Given the description of an element on the screen output the (x, y) to click on. 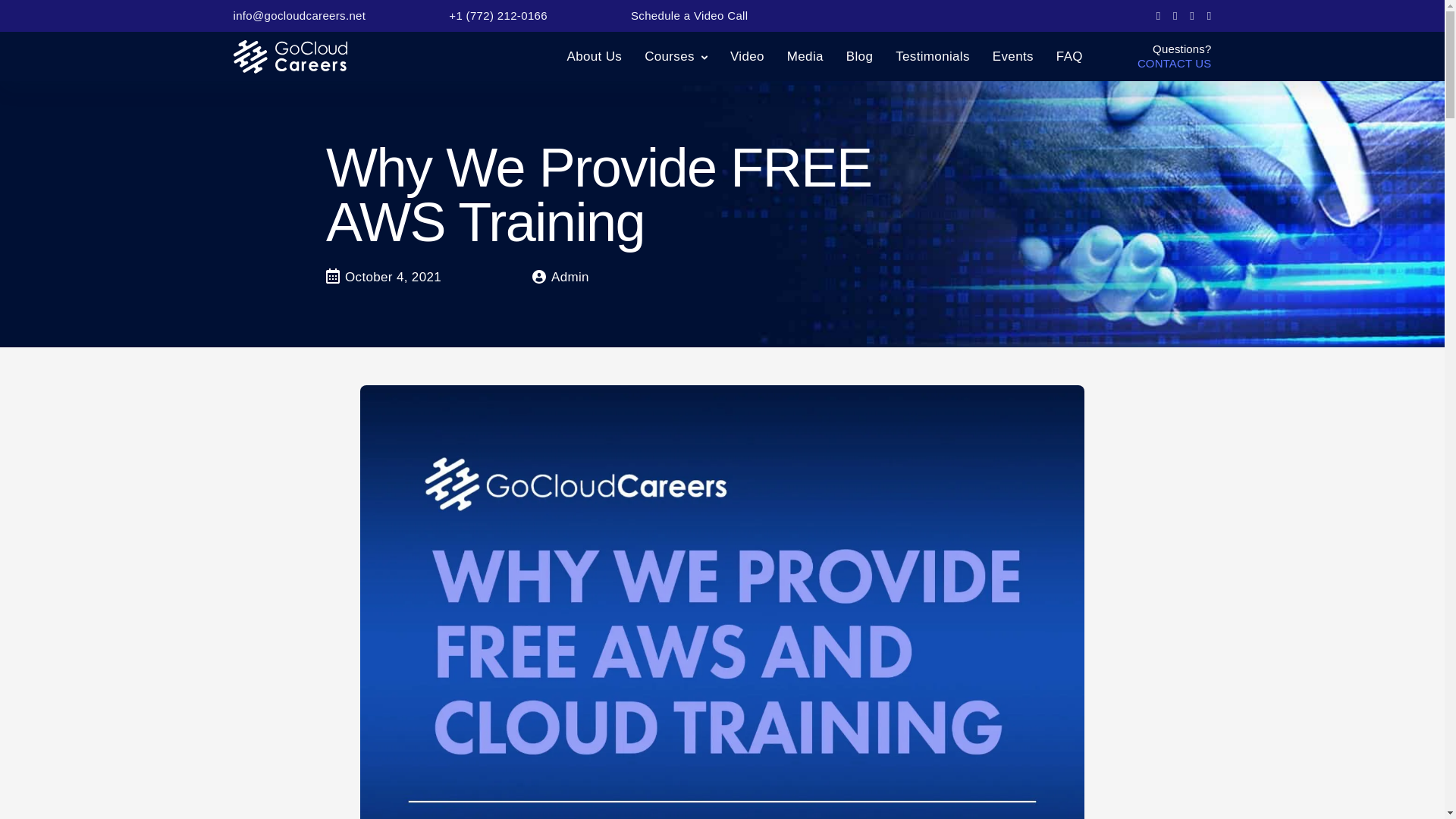
Courses (669, 56)
Blog (858, 56)
CONTACT US (1174, 63)
FAQ (1070, 56)
About Us (595, 56)
Video (747, 56)
Schedule a Video Call (689, 15)
Testimonials (932, 56)
Events (1012, 56)
Media (805, 56)
